Given the description of an element on the screen output the (x, y) to click on. 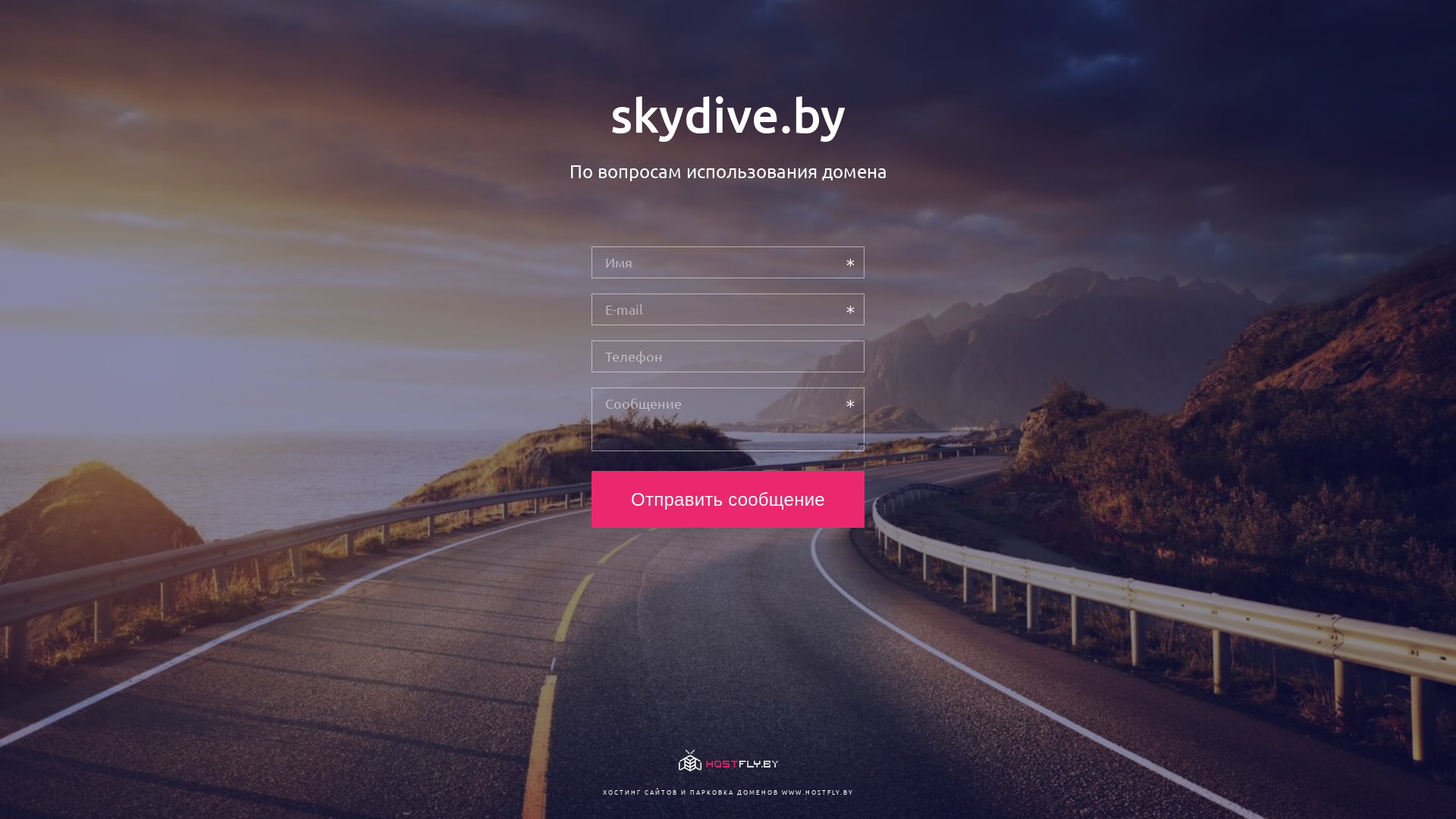
WWW.HOSTFLY.BY Element type: text (817, 791)
